Given the description of an element on the screen output the (x, y) to click on. 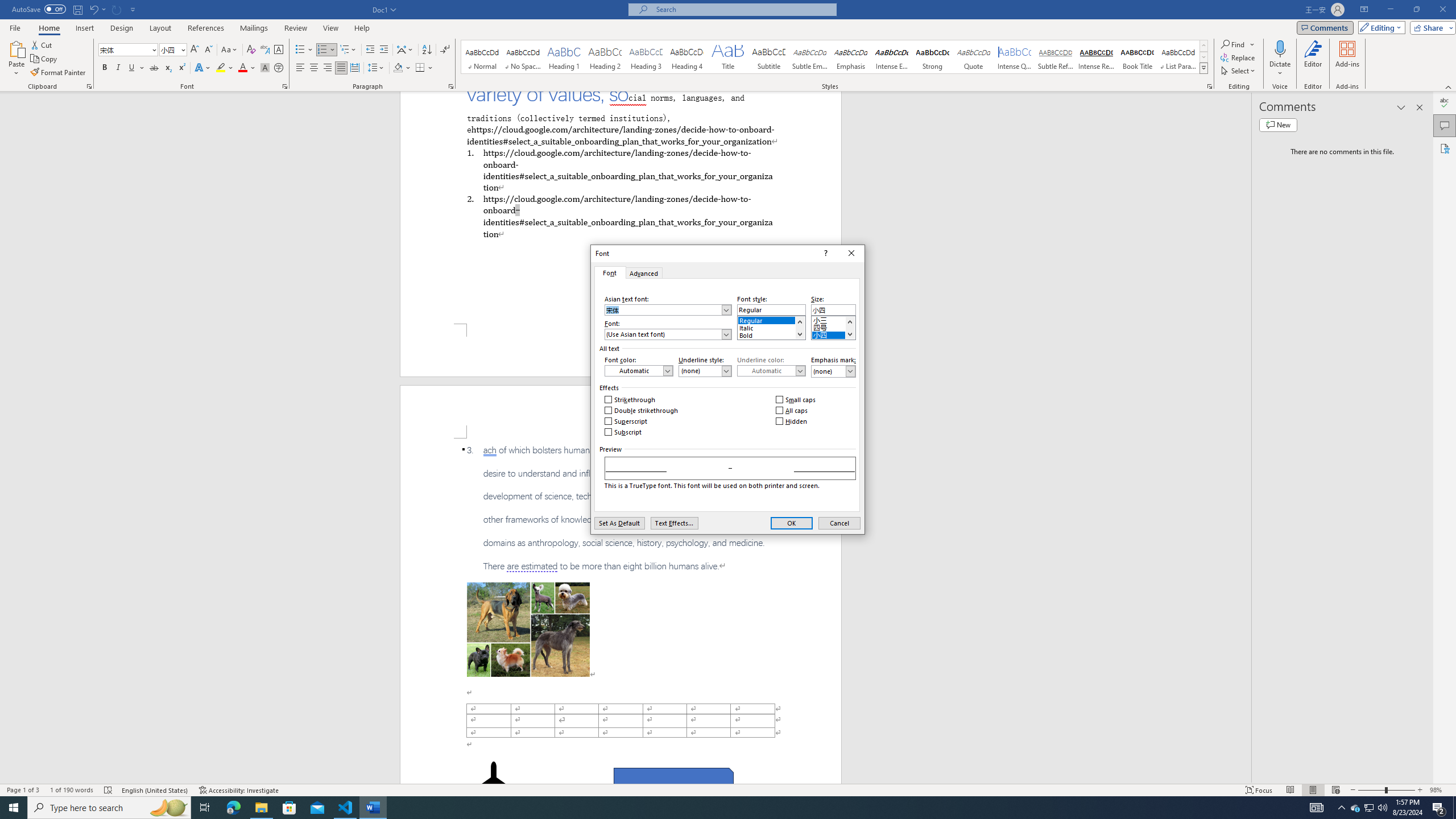
Strikethrough (630, 399)
Styles... (1209, 85)
